Given the description of an element on the screen output the (x, y) to click on. 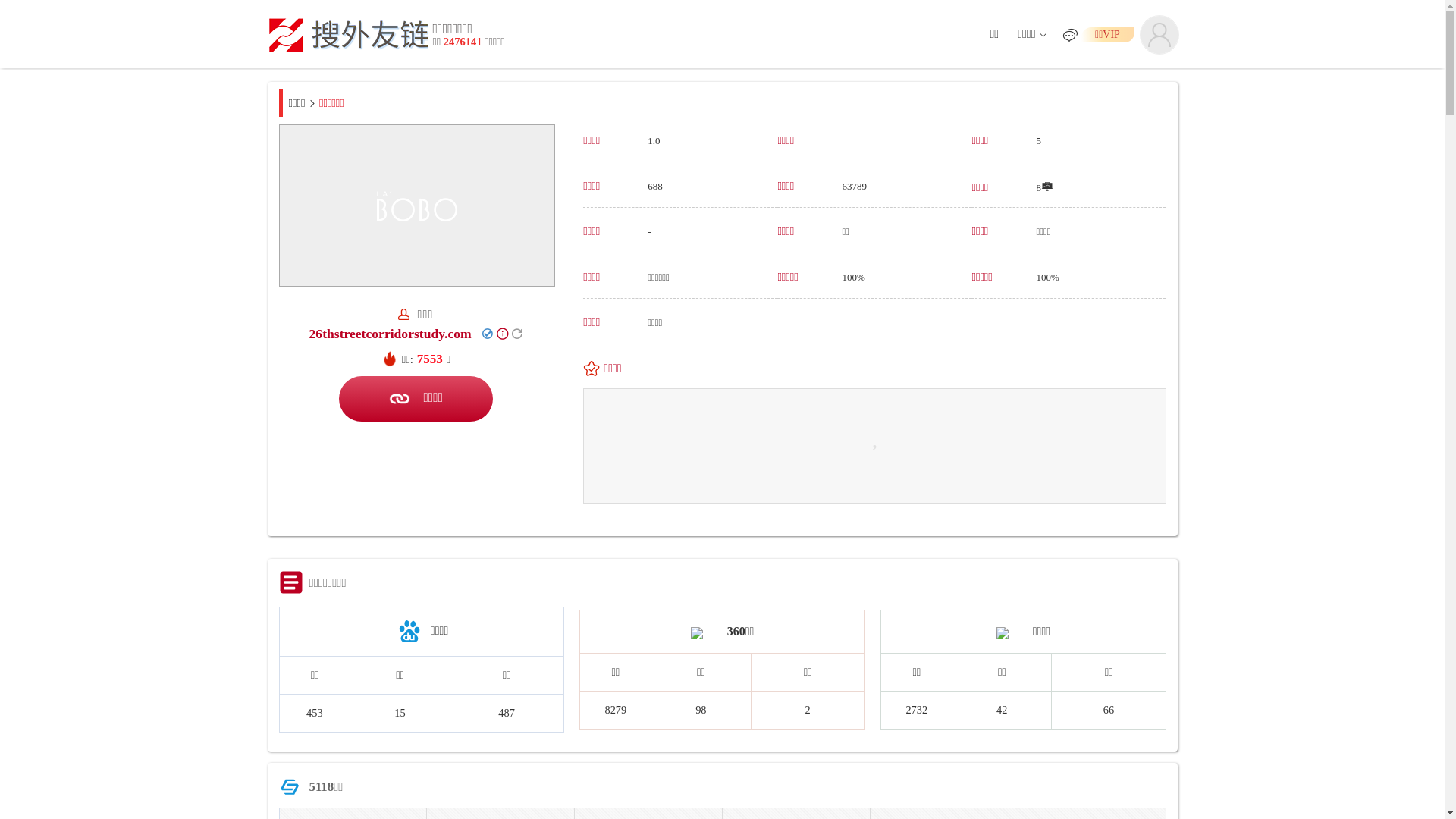
26thstreetcorridorstudy.com Element type: text (390, 333)
